Given the description of an element on the screen output the (x, y) to click on. 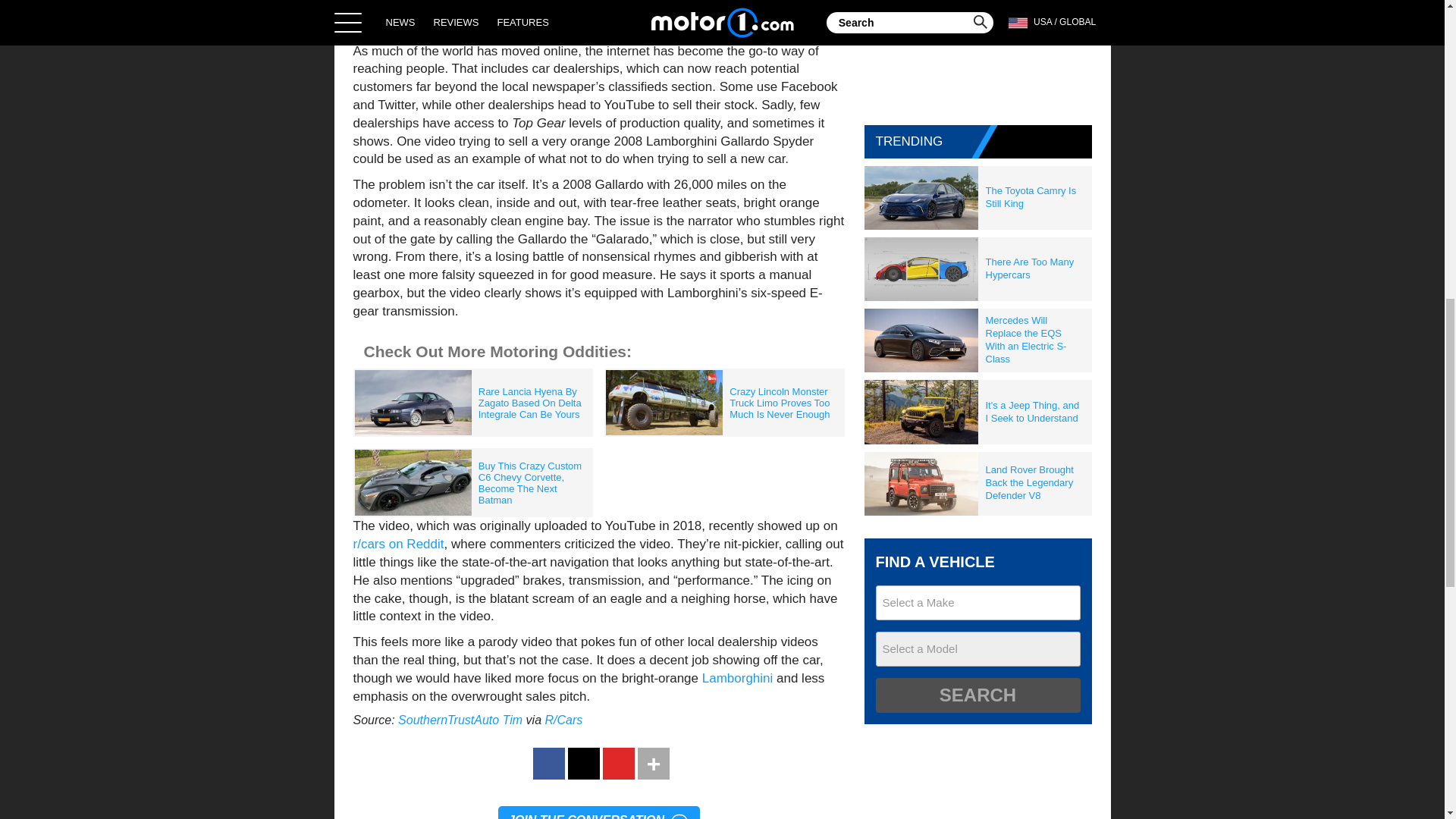
JOIN THE CONVERSATION (598, 812)
Search (977, 695)
SouthernTrustAuto Tim (459, 719)
Lamborghini (737, 677)
